Given the description of an element on the screen output the (x, y) to click on. 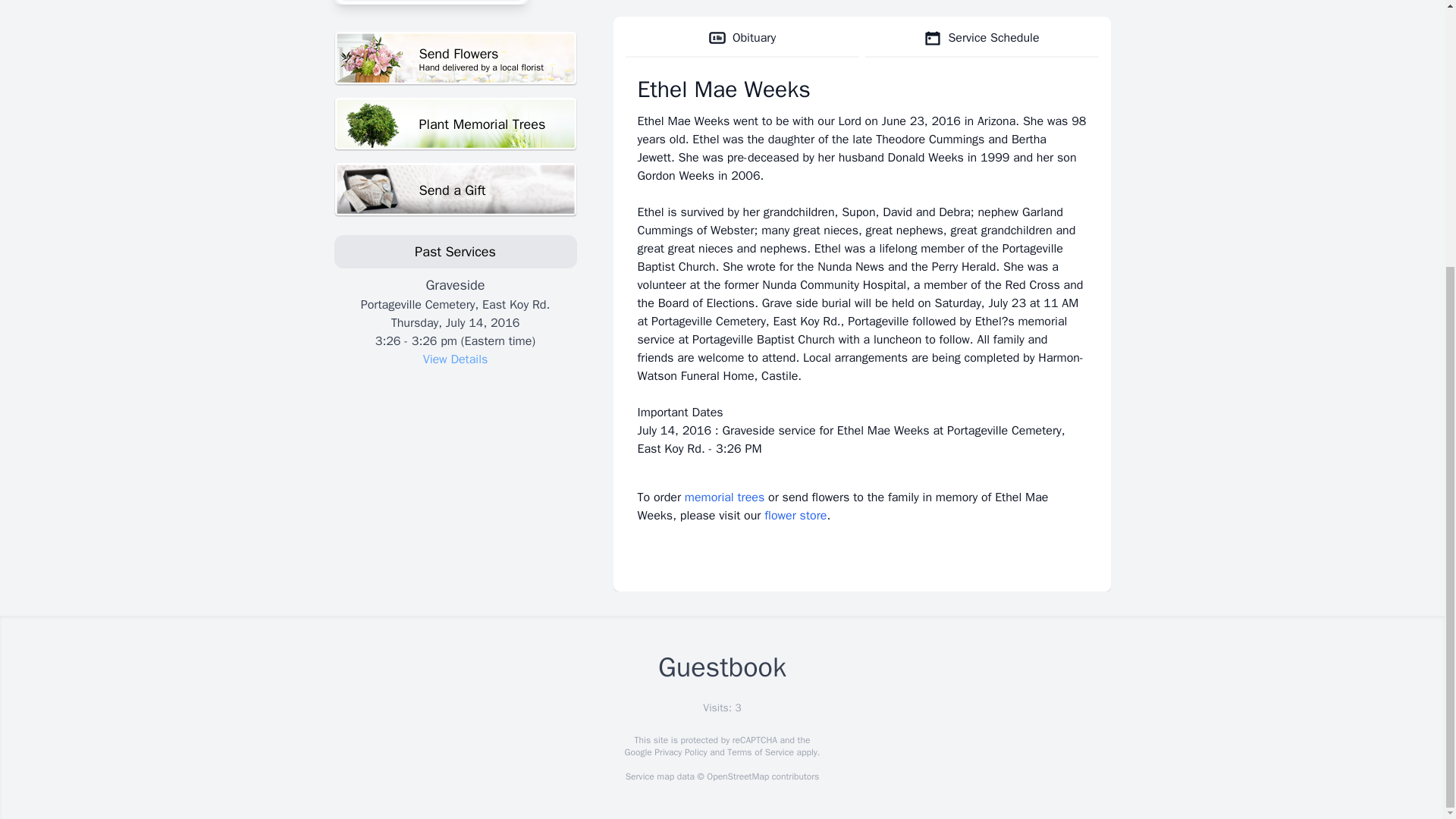
Terms of Service (759, 752)
Obituary (741, 38)
OpenStreetMap (737, 776)
memorial trees (724, 497)
Plant Memorial Trees (454, 58)
flower store (454, 124)
Send a Gift (795, 515)
View Details (454, 189)
Service Schedule (455, 359)
